Given the description of an element on the screen output the (x, y) to click on. 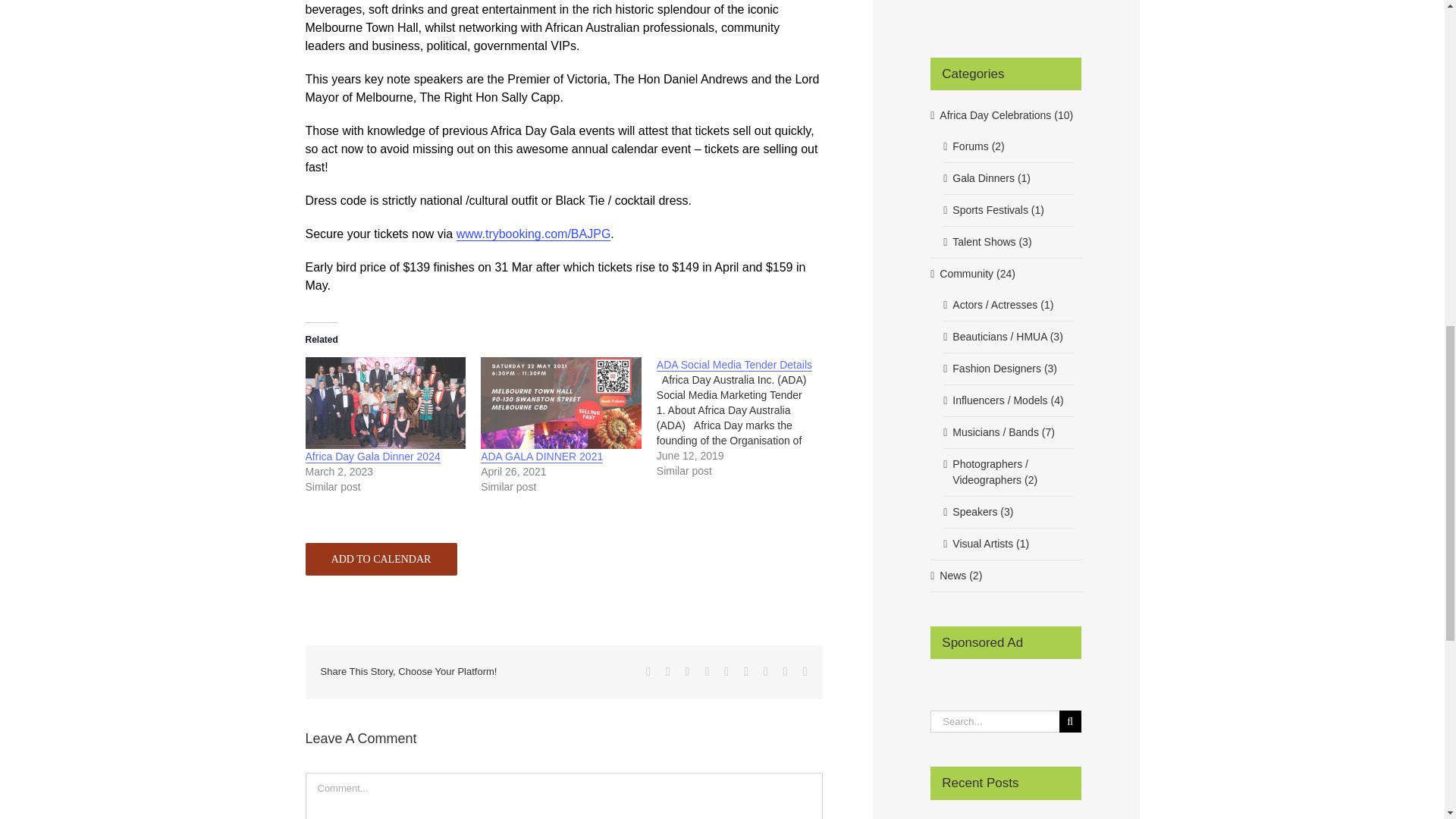
Africa Day Gala Dinner 2024 (371, 456)
Twitter (667, 671)
Africa Day Gala Dinner 2024 (384, 402)
ADA Social Media Tender Details (744, 417)
ADA Social Media Tender Details (734, 364)
Facebook (648, 671)
Africa Day Gala Dinner 2024 (371, 456)
ADA GALA DINNER 2021 (561, 402)
Reddit (687, 671)
ADA GALA DINNER 2021 (541, 456)
ADA GALA DINNER 2021 (541, 456)
ADA Social Media Tender Details (734, 364)
ADD TO CALENDAR (380, 558)
